Given the description of an element on the screen output the (x, y) to click on. 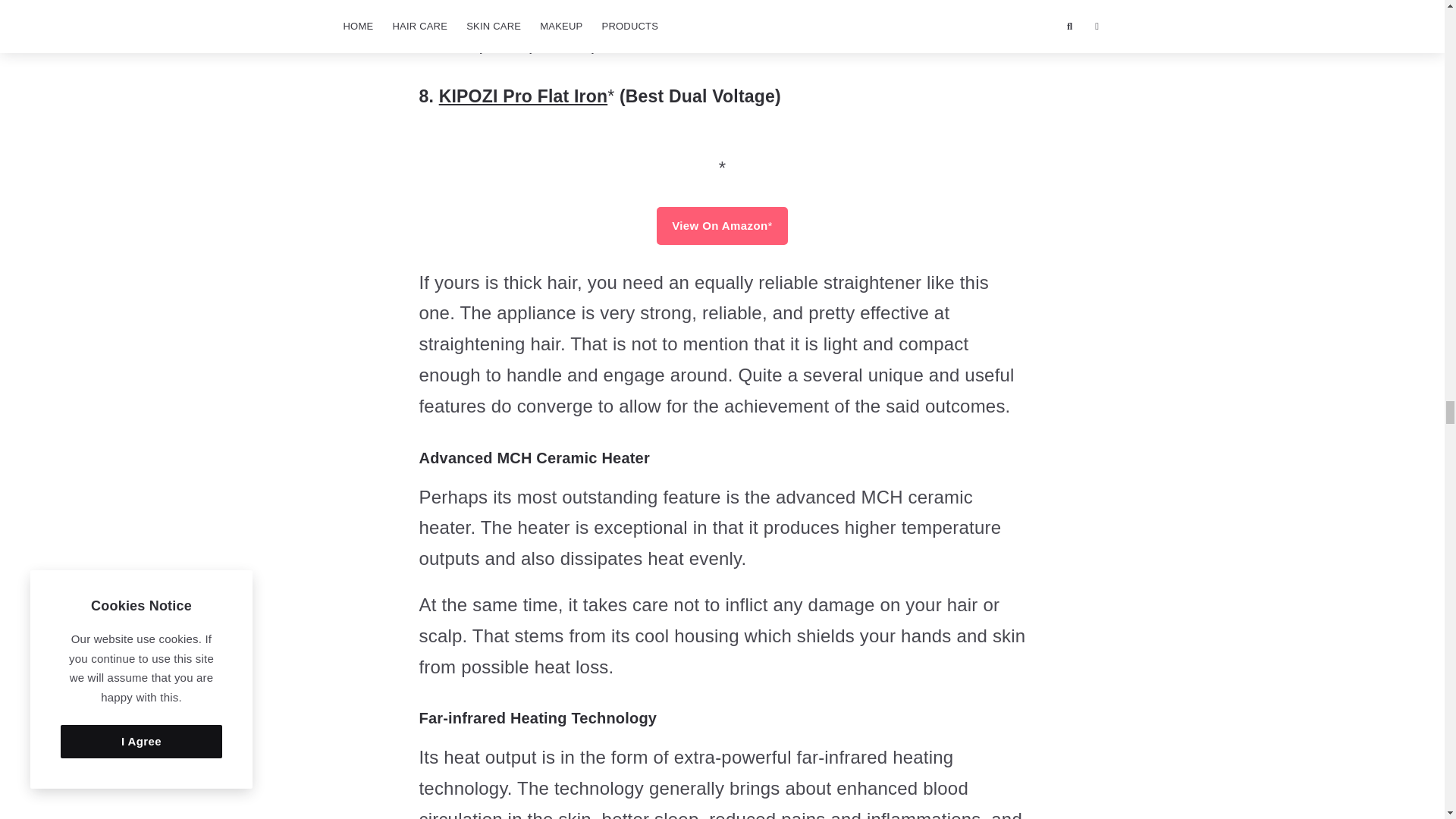
KIPOZI Pro Flat Iron (722, 150)
